Given the description of an element on the screen output the (x, y) to click on. 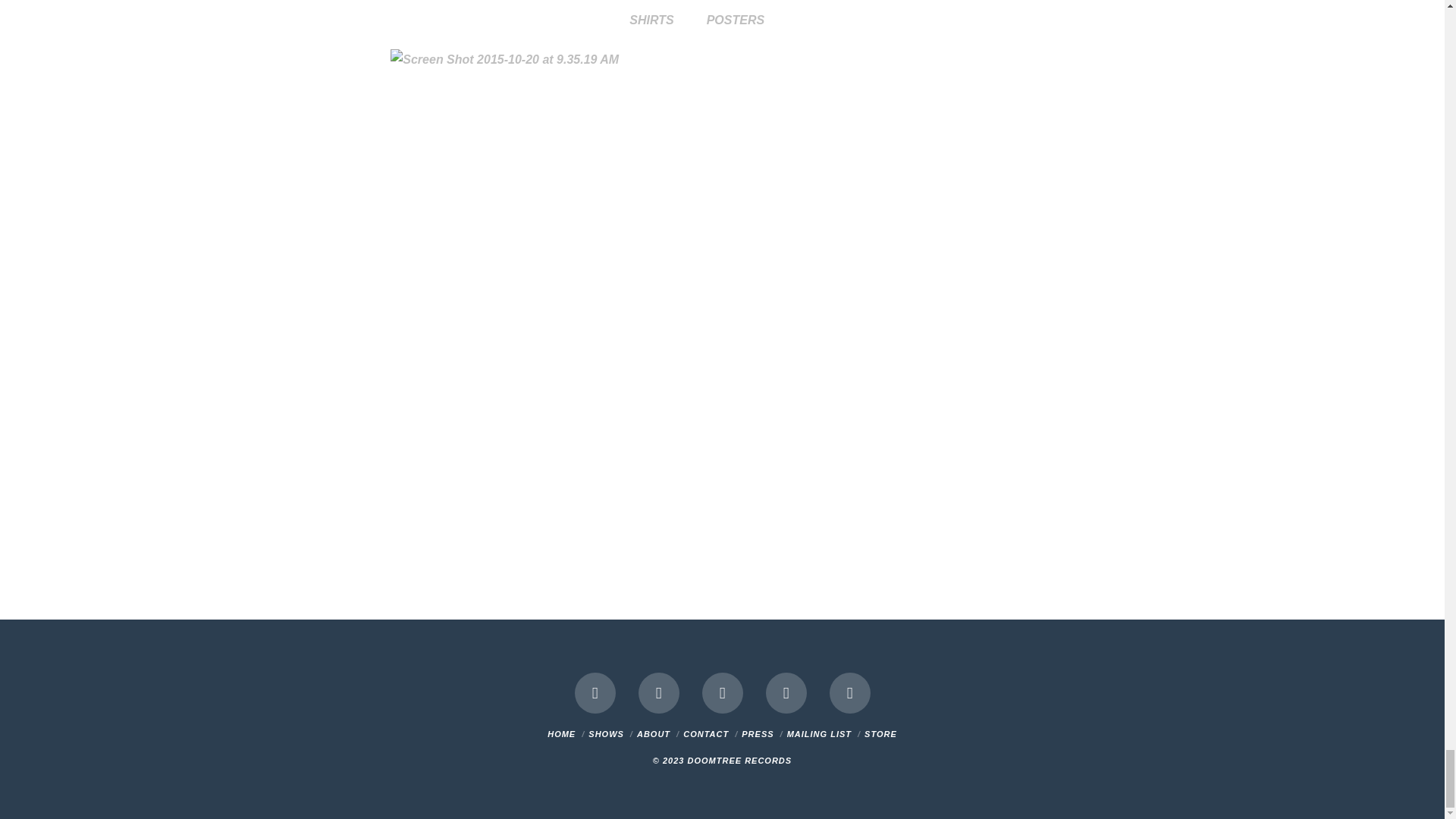
Facebook (595, 692)
Twitter (659, 692)
SoundCloud (849, 692)
Instagram (785, 692)
YouTube (721, 692)
